Given the description of an element on the screen output the (x, y) to click on. 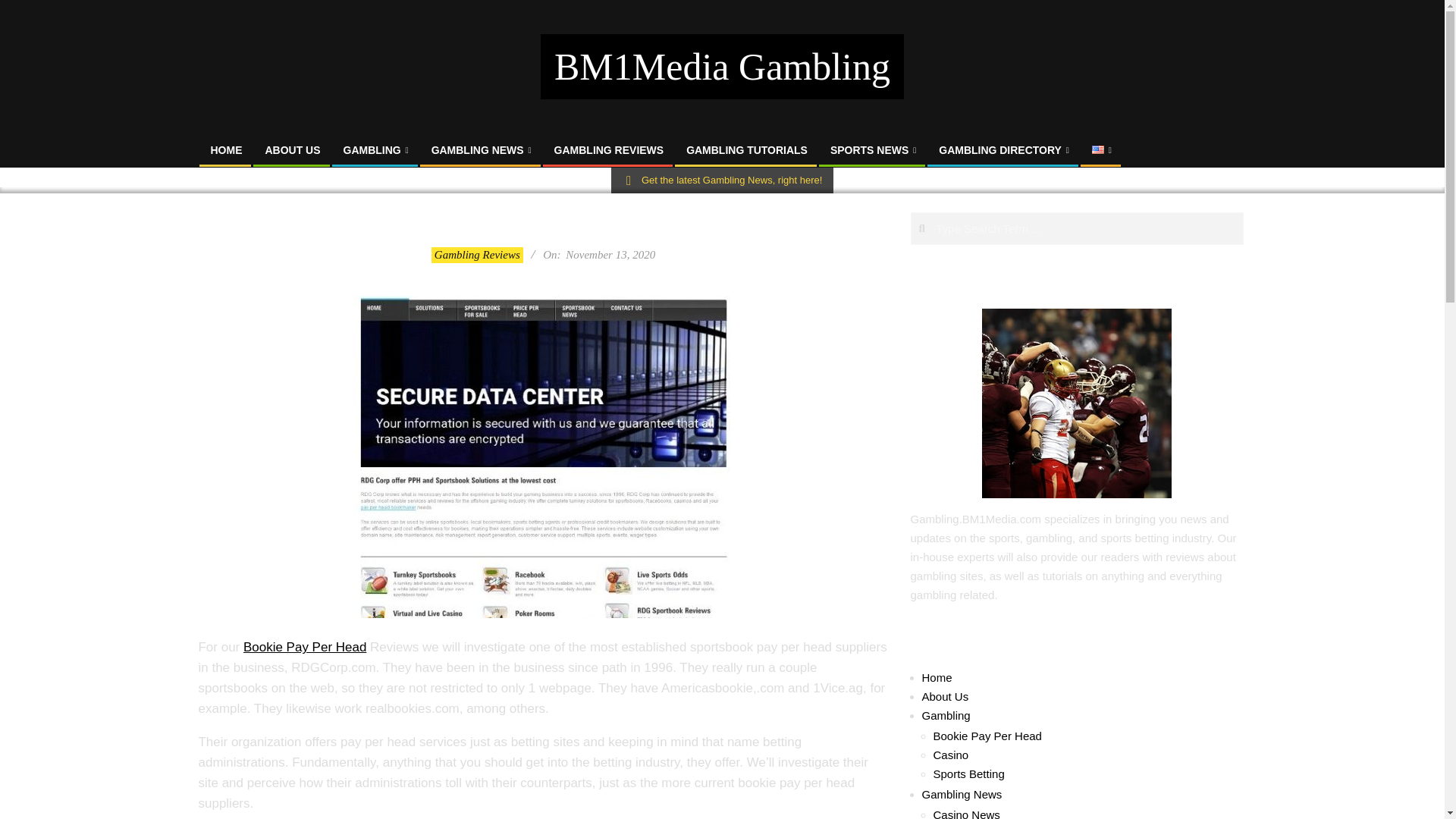
BM1Media Gambling (721, 66)
SPORTS NEWS (872, 150)
GAMBLING (375, 150)
Friday, November 13, 2020, 12:16 pm (610, 254)
GAMBLING NEWS (481, 150)
GAMBLING TUTORIALS (746, 150)
GAMBLING REVIEWS (609, 150)
Bookie Pay Per Head (304, 646)
ABOUT US (292, 150)
GAMBLING DIRECTORY (1003, 150)
Gambling Reviews (476, 254)
HOME (225, 150)
